Given the description of an element on the screen output the (x, y) to click on. 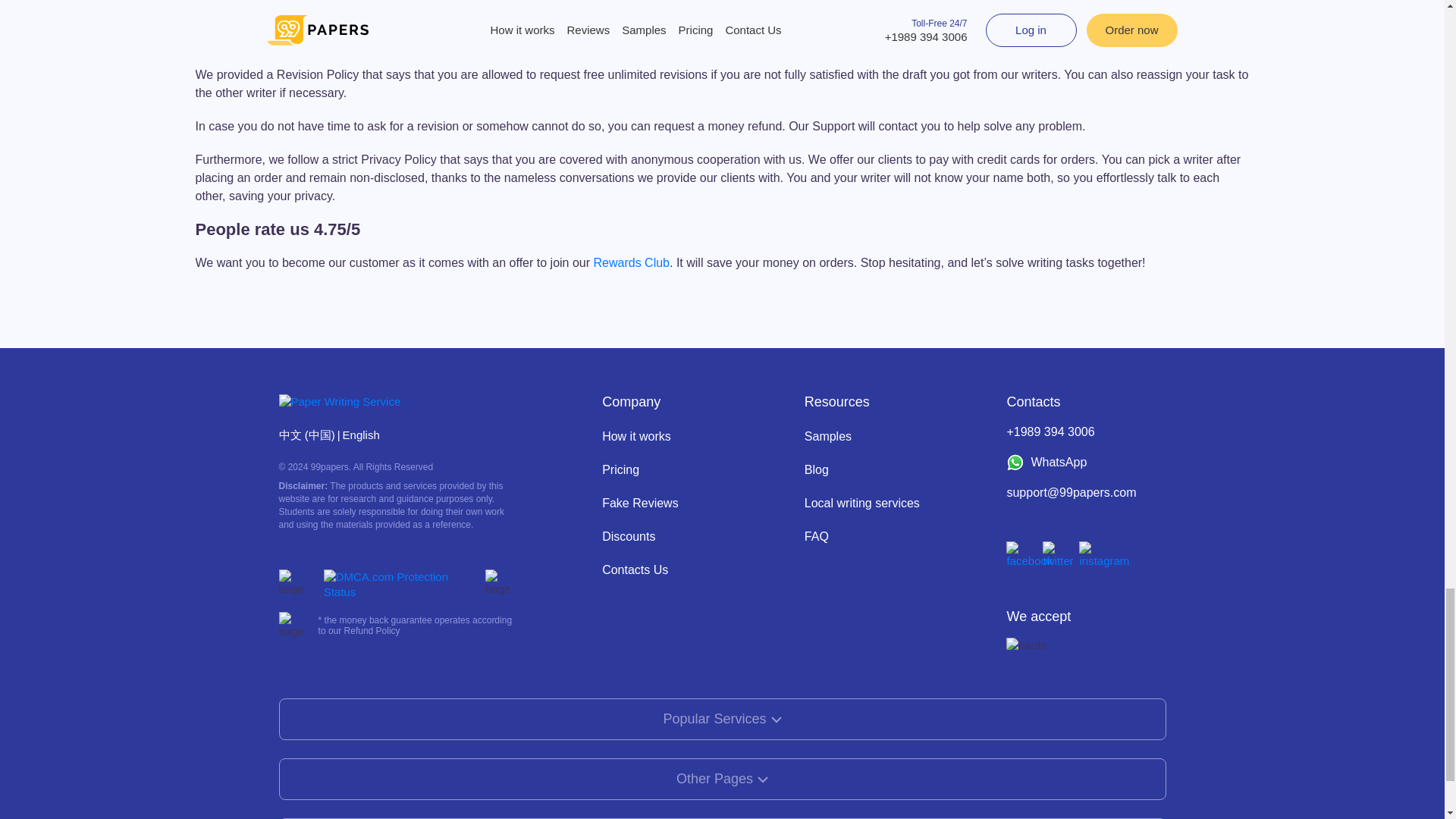
English (361, 434)
FAQ (816, 535)
How it works (636, 436)
Local writing services (862, 502)
How it works (636, 436)
Contacts Us (635, 569)
Fake Reviews (640, 502)
Rewards Club (630, 262)
DMCA.com Protection Status (400, 584)
Pricing (620, 469)
